Given the description of an element on the screen output the (x, y) to click on. 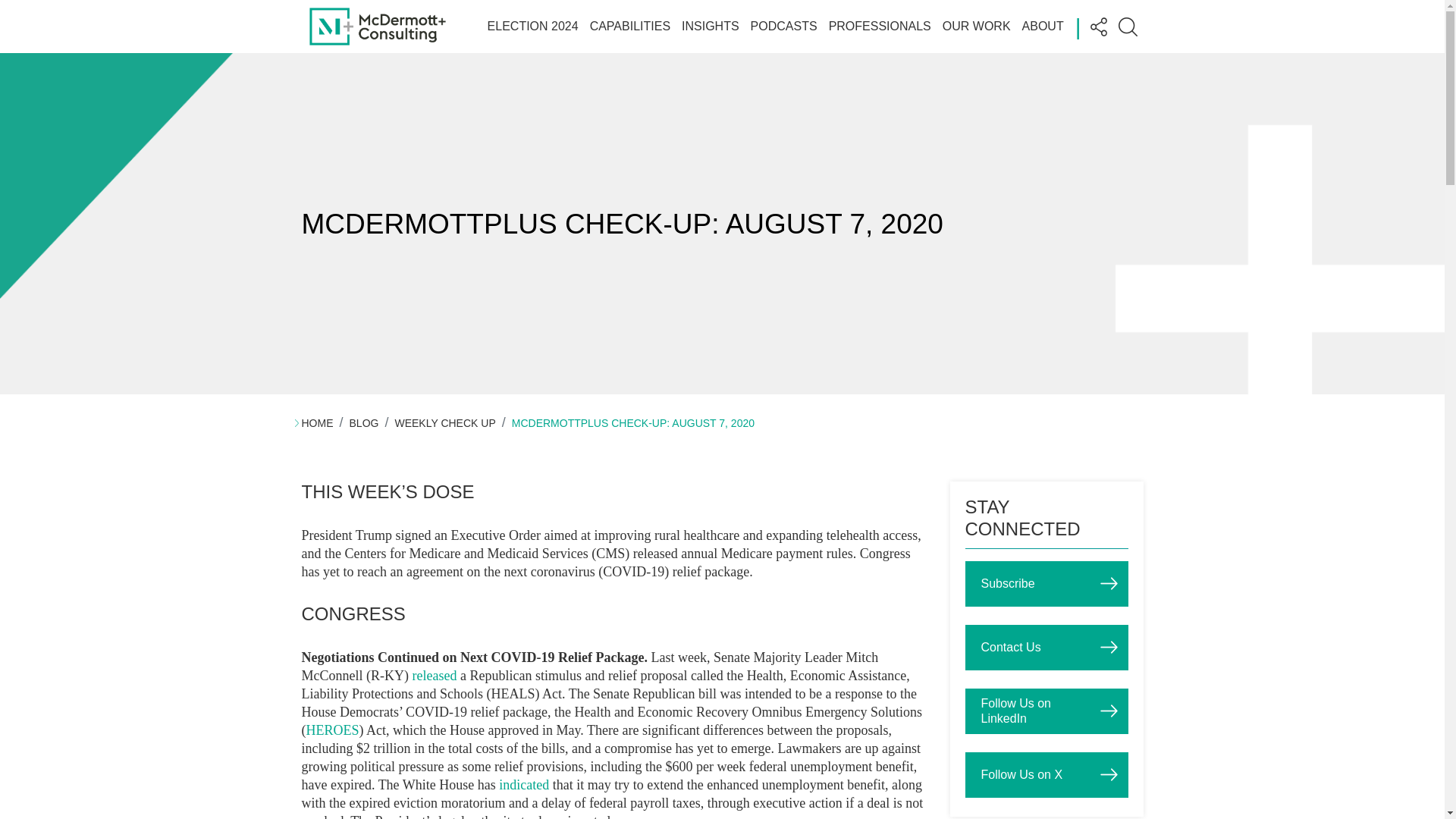
PROFESSIONALS (879, 26)
WEEKLY CHECK UP (444, 422)
CAPABILITIES (629, 26)
OUR WORK (976, 26)
INSIGHTS (710, 26)
HOME (317, 422)
ABOUT (1043, 26)
BLOG (363, 422)
ELECTION 2024 (532, 26)
indicated (523, 784)
released (434, 675)
PODCASTS (783, 26)
HEROES (332, 729)
